Given the description of an element on the screen output the (x, y) to click on. 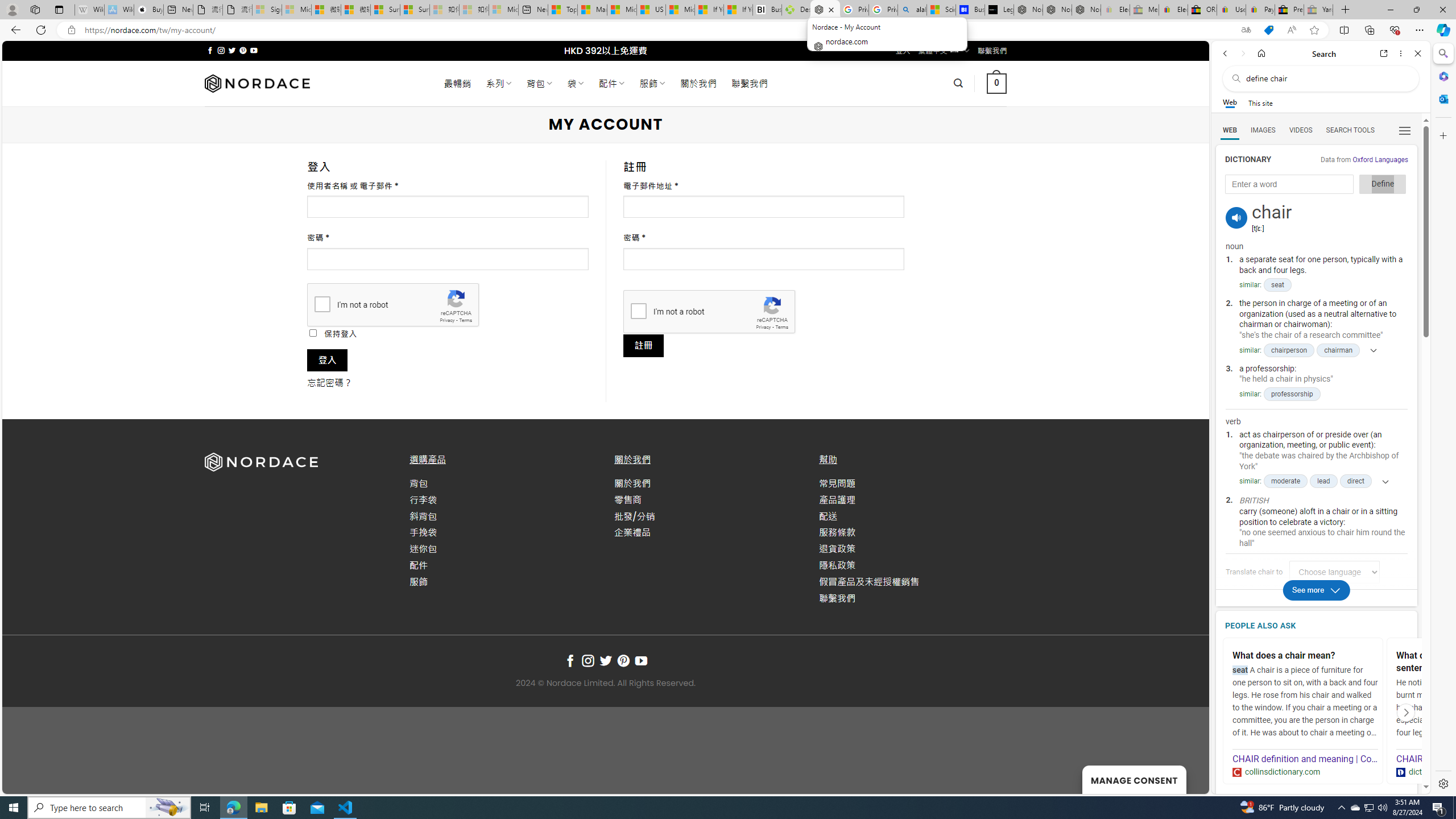
I'm not a robot (638, 310)
What does a chair mean? (1304, 656)
